Given the description of an element on the screen output the (x, y) to click on. 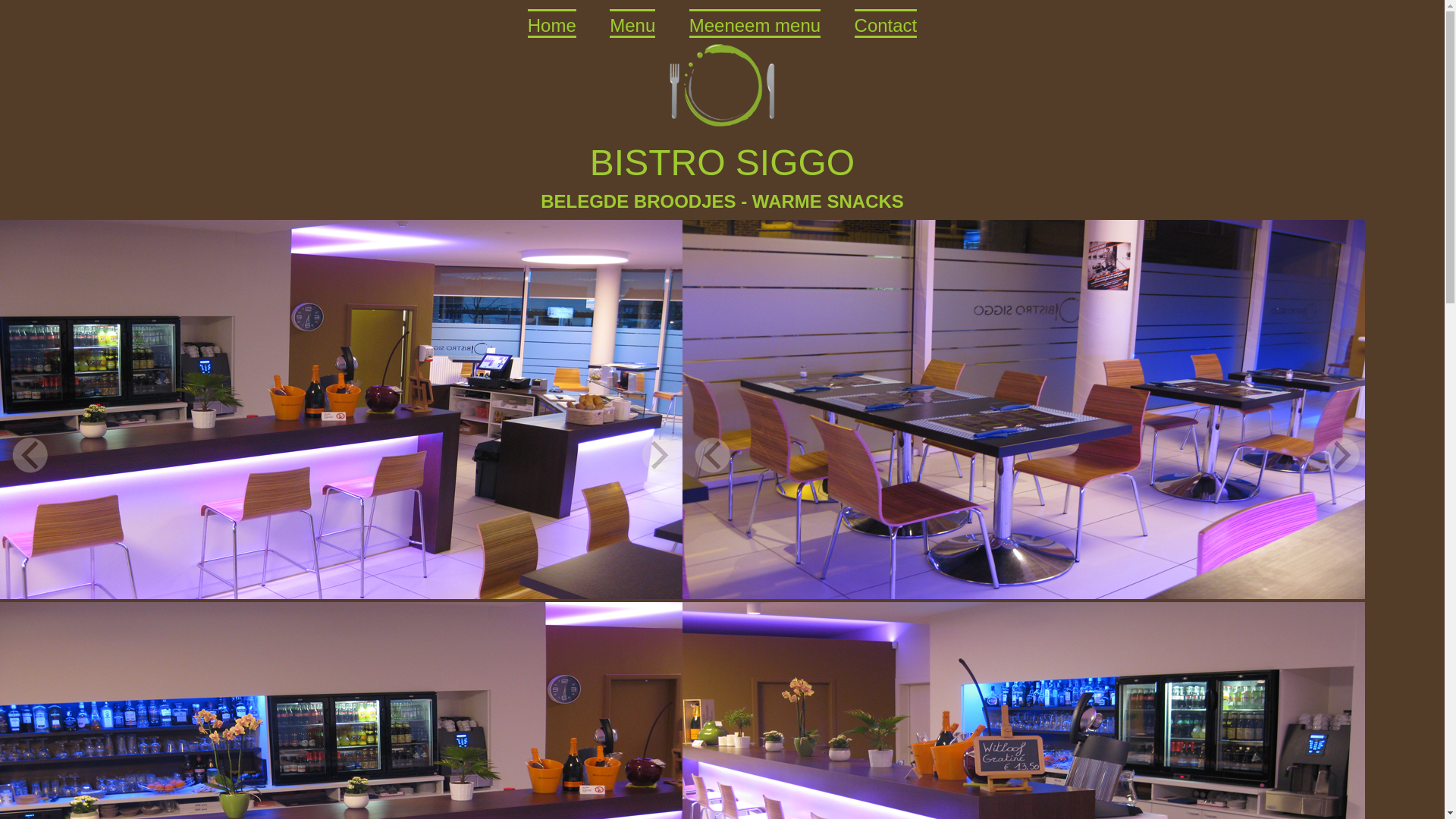
Menu Element type: text (632, 23)
Meeneem menu Element type: text (754, 23)
Home Element type: text (551, 23)
Contact Element type: text (885, 23)
